Given the description of an element on the screen output the (x, y) to click on. 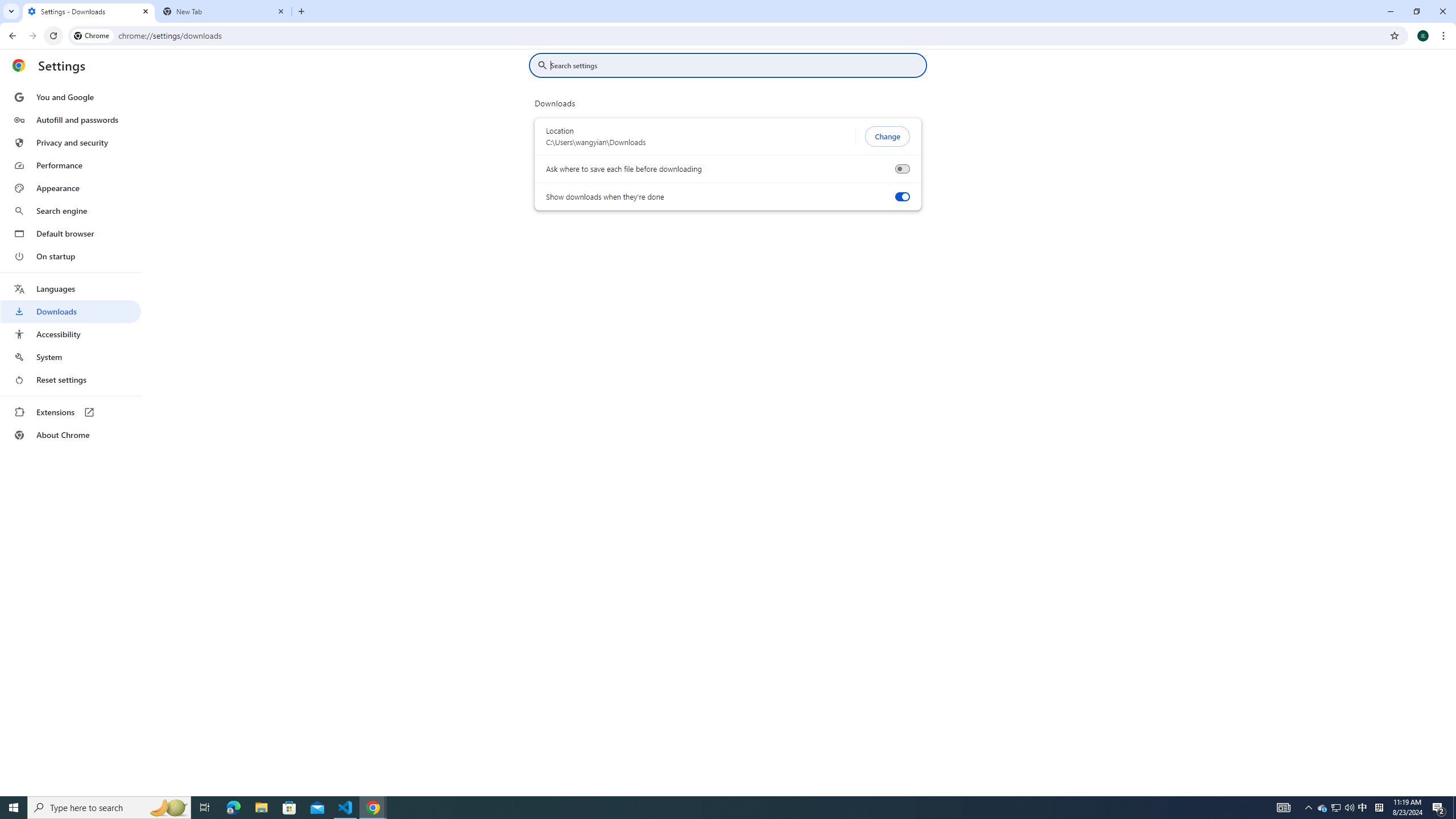
Appearance (70, 187)
You and Google (70, 96)
Show downloads when they're done (901, 197)
On startup (70, 255)
Autofill and passwords (70, 119)
Downloads (70, 311)
Ask where to save each file before downloading (901, 168)
Reset settings (70, 379)
About Chrome (70, 434)
Search settings (735, 65)
AutomationID: menu (71, 265)
